Given the description of an element on the screen output the (x, y) to click on. 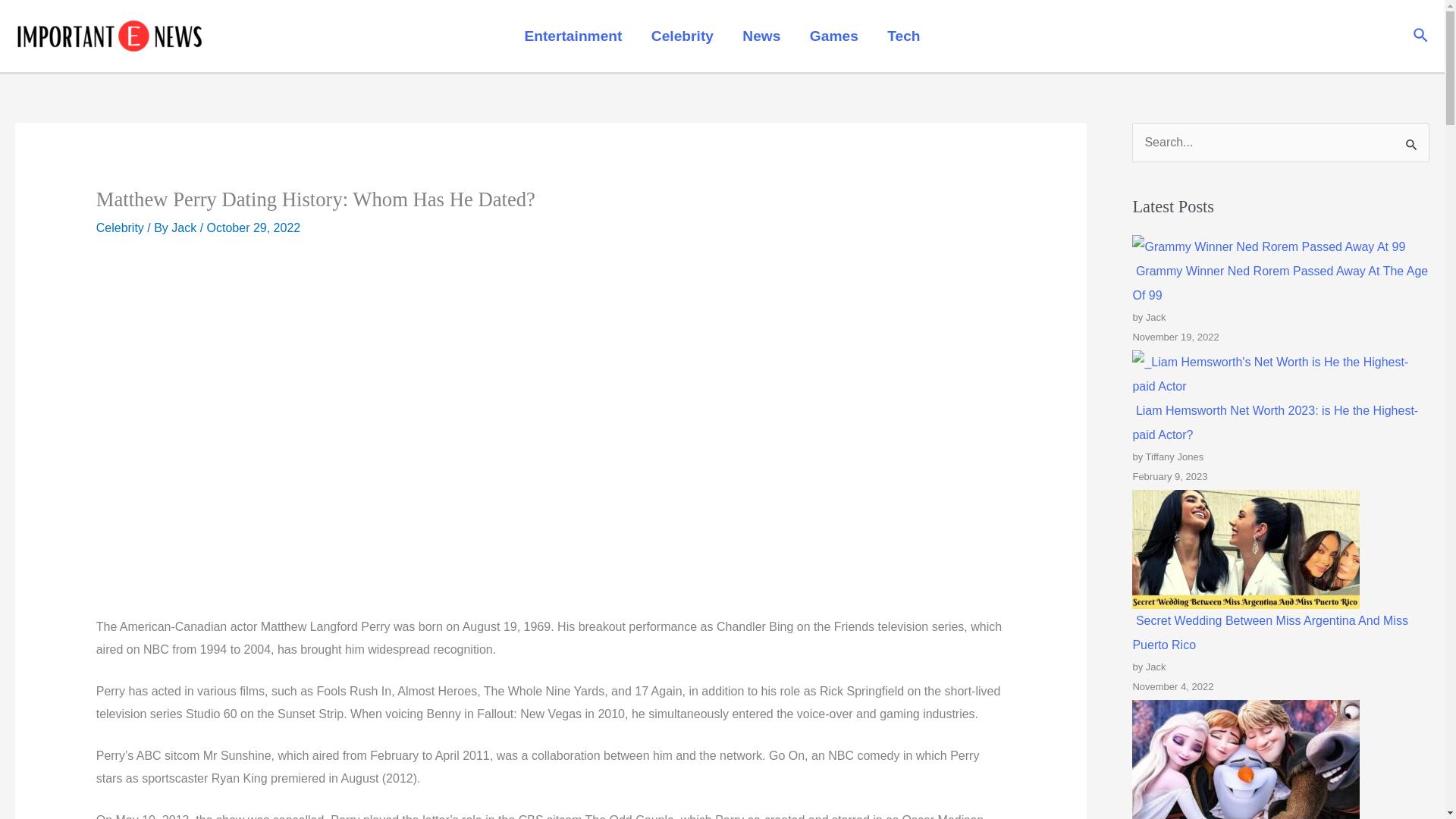
Celebrity (120, 227)
Tech (903, 35)
News (761, 35)
Entertainment (572, 35)
Jack (185, 227)
Games (833, 35)
View all posts by Jack (185, 227)
Celebrity (682, 35)
